Given the description of an element on the screen output the (x, y) to click on. 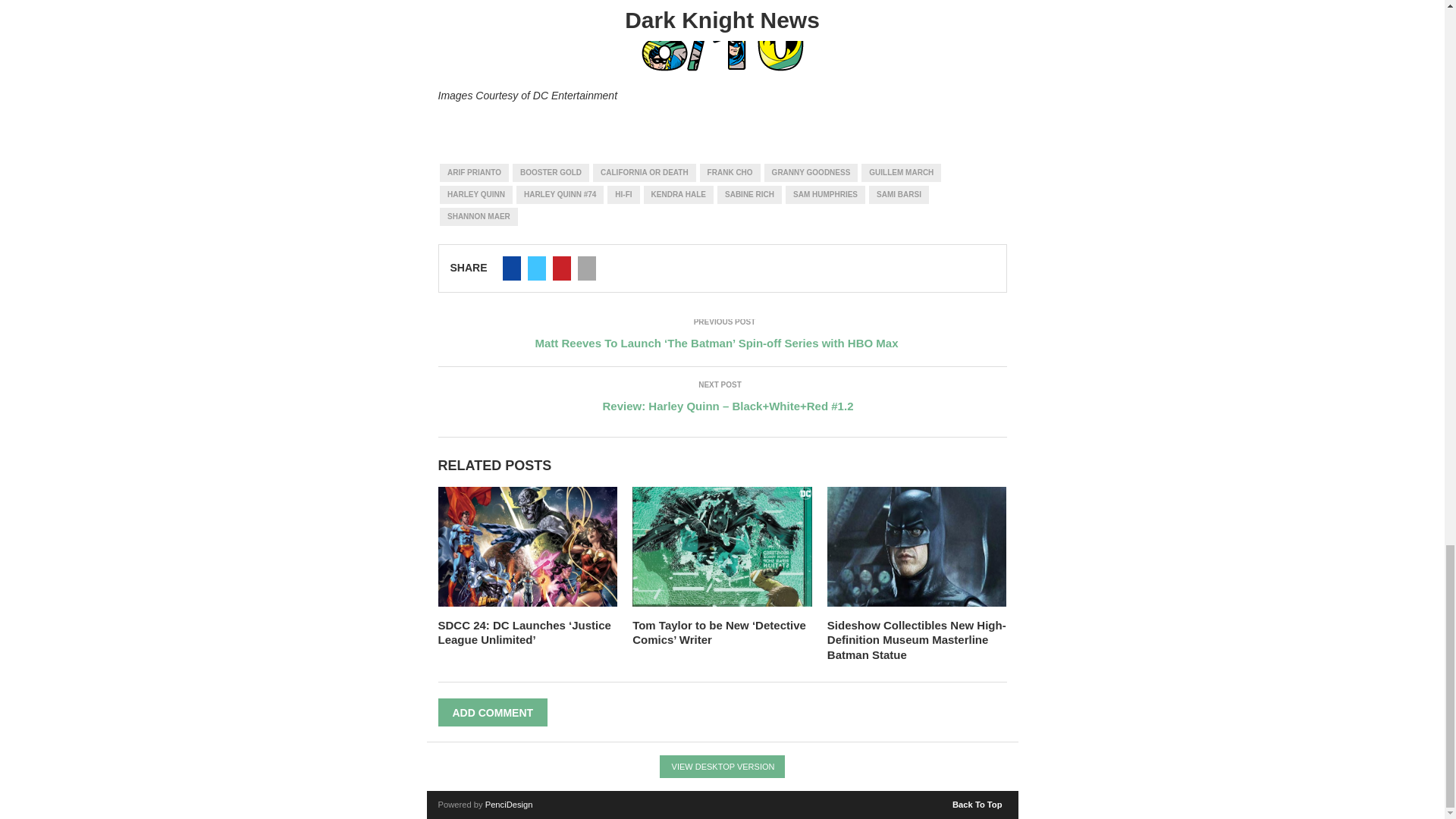
ADD COMMENT (493, 712)
CALIFORNIA OR DEATH (643, 172)
BOOSTER GOLD (550, 172)
KENDRA HALE (678, 194)
SHANNON MAER (478, 217)
PenciDesign (508, 804)
VIEW DESKTOP VERSION (722, 766)
SABINE RICH (749, 194)
SAMI BARSI (898, 194)
HI-FI (623, 194)
GRANNY GOODNESS (811, 172)
HARLEY QUINN (475, 194)
GUILLEM MARCH (900, 172)
SAM HUMPHRIES (825, 194)
